Given the description of an element on the screen output the (x, y) to click on. 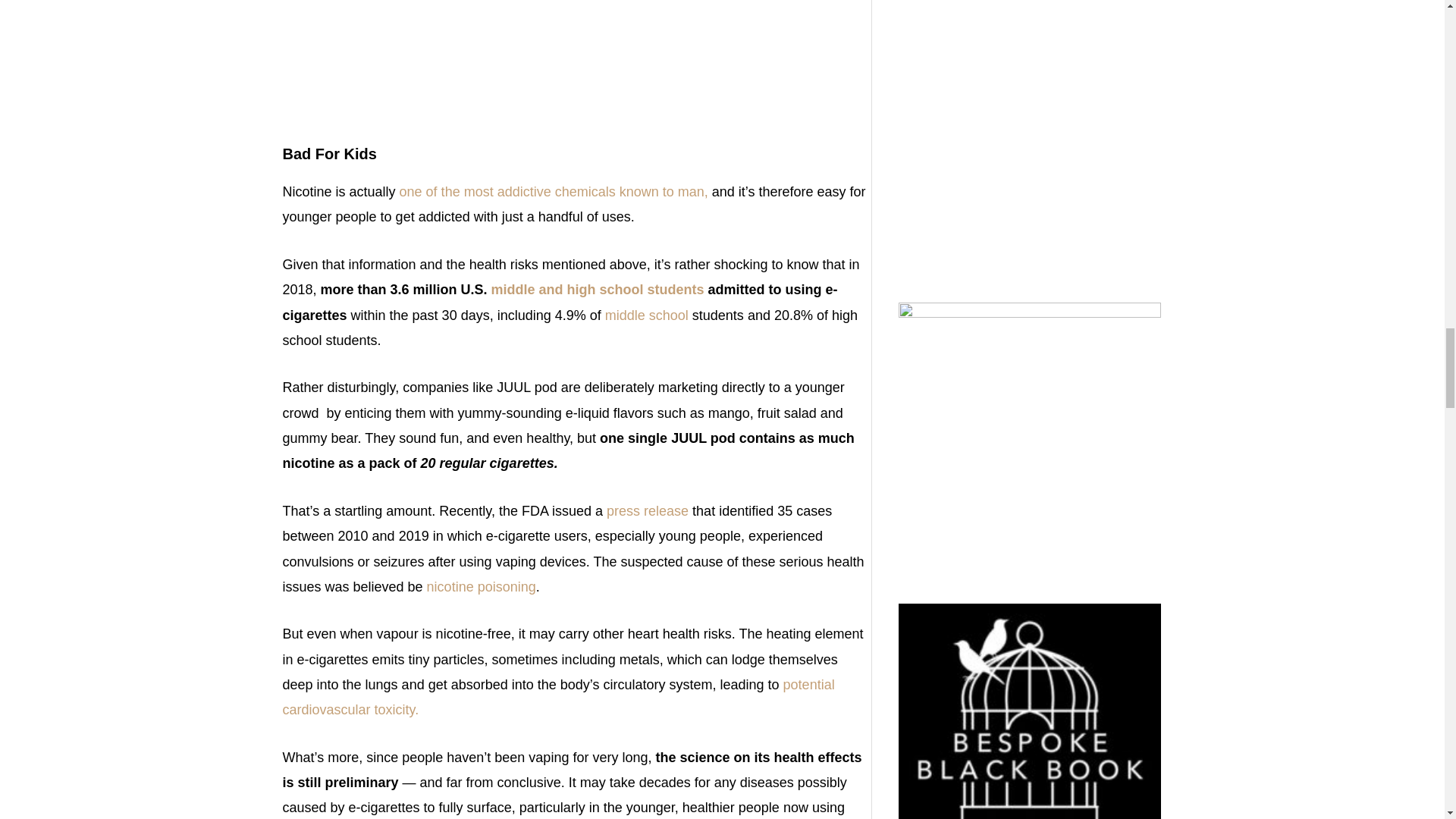
How Instagram promotes electronic cigarettes to children (576, 72)
